Given the description of an element on the screen output the (x, y) to click on. 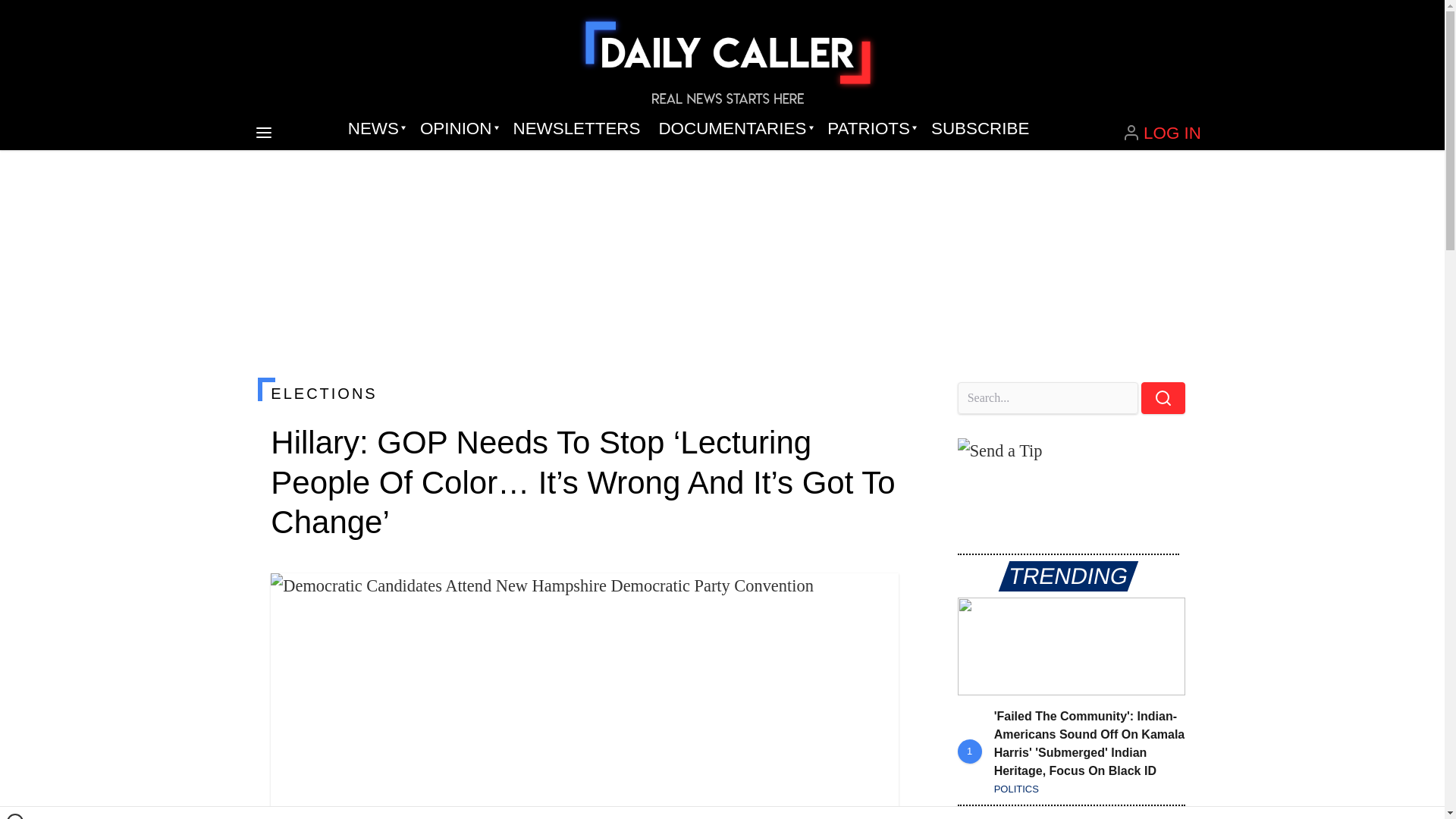
Toggle fullscreen (874, 596)
SUBSCRIBE (979, 128)
Close window (14, 816)
NEWSLETTERS (576, 128)
PATRIOTS (869, 128)
DOCUMENTARIES (733, 128)
NEWS (374, 128)
OPINION (456, 128)
ELECTIONS (584, 393)
